Given the description of an element on the screen output the (x, y) to click on. 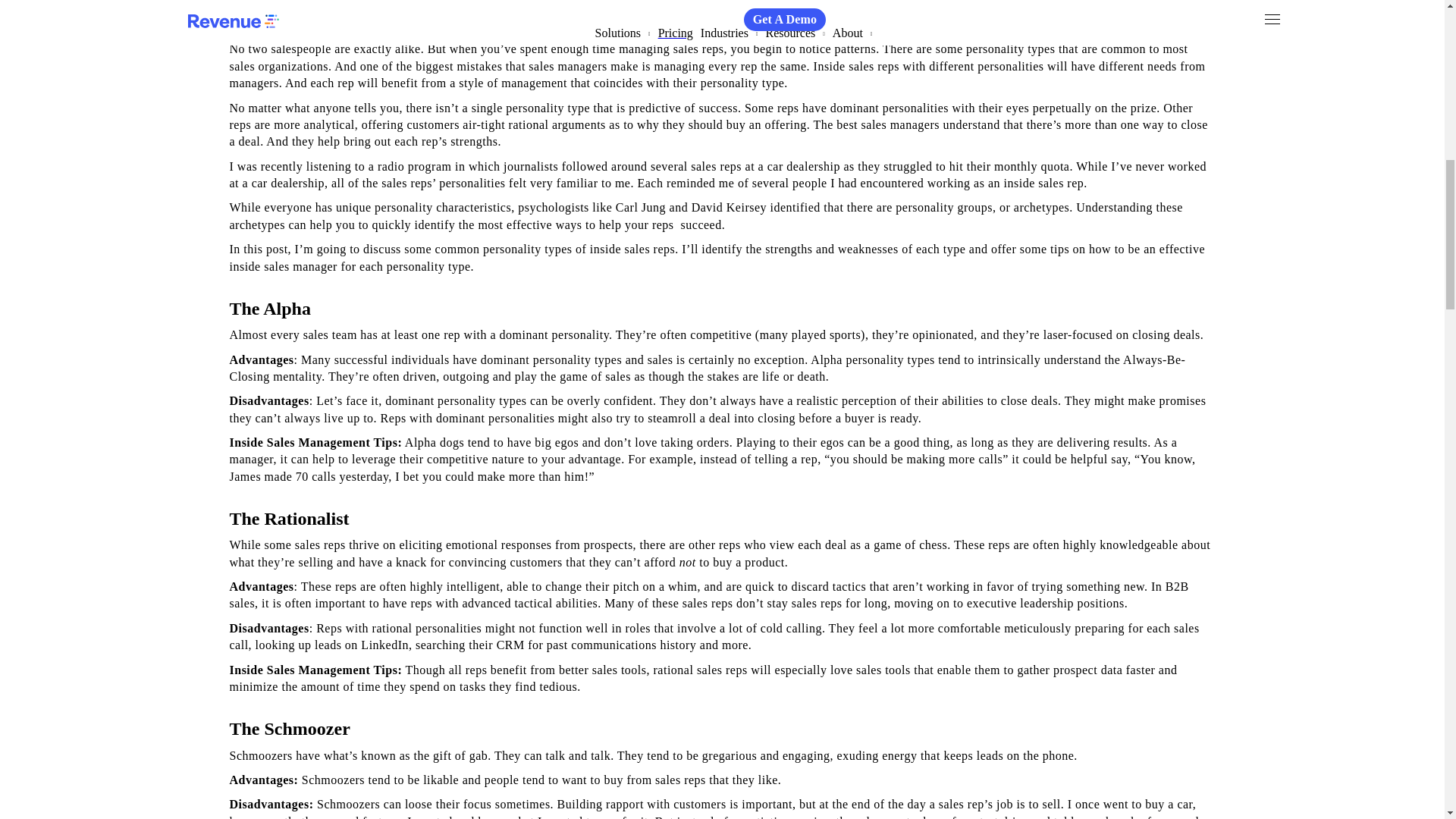
Revenue Blog (255, 5)
